Given the description of an element on the screen output the (x, y) to click on. 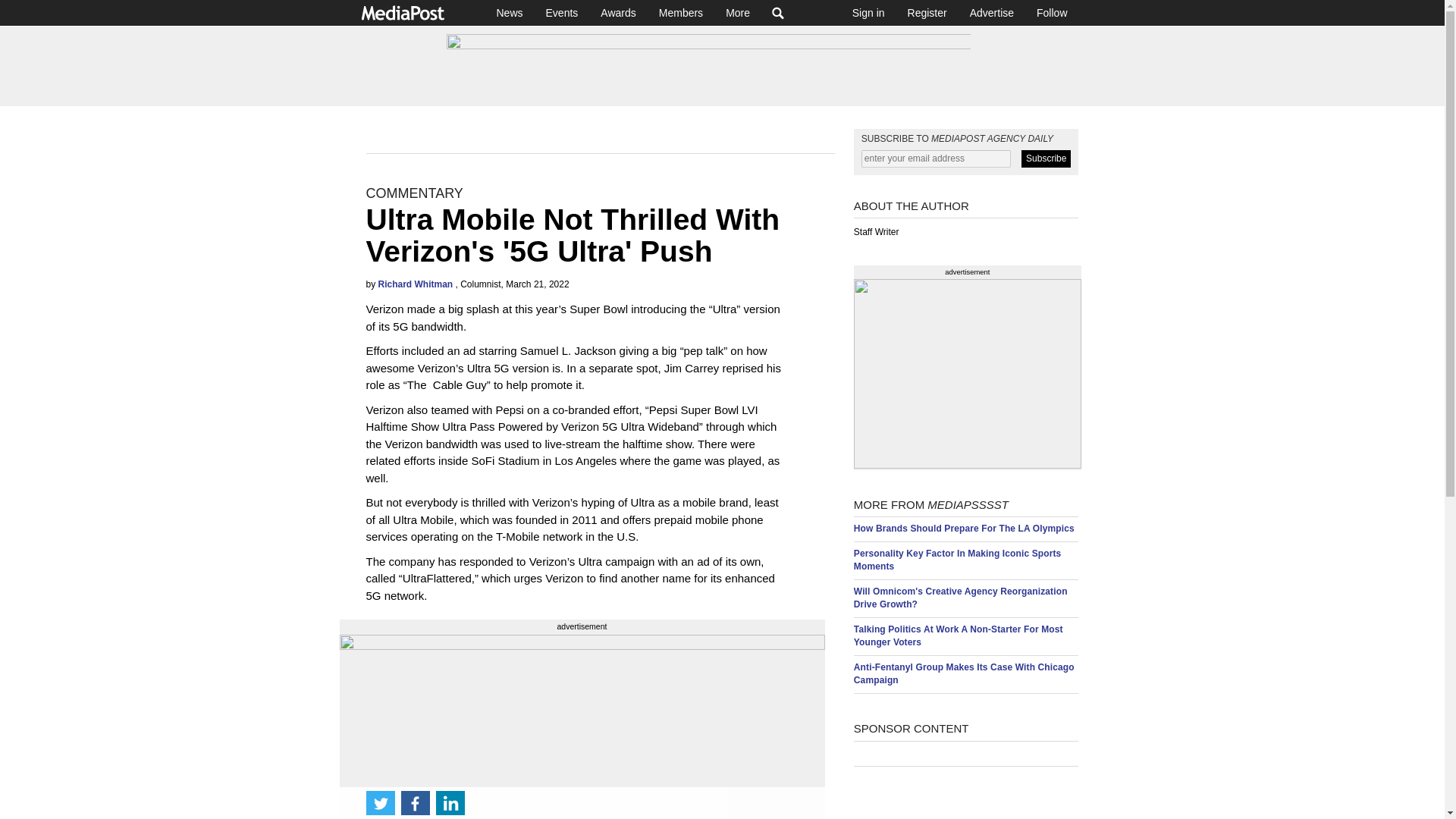
Subscribe (1046, 158)
News (509, 12)
Share on Facebook (414, 802)
Share on Twitter (379, 802)
Share on LinkedIn (449, 802)
